Given the description of an element on the screen output the (x, y) to click on. 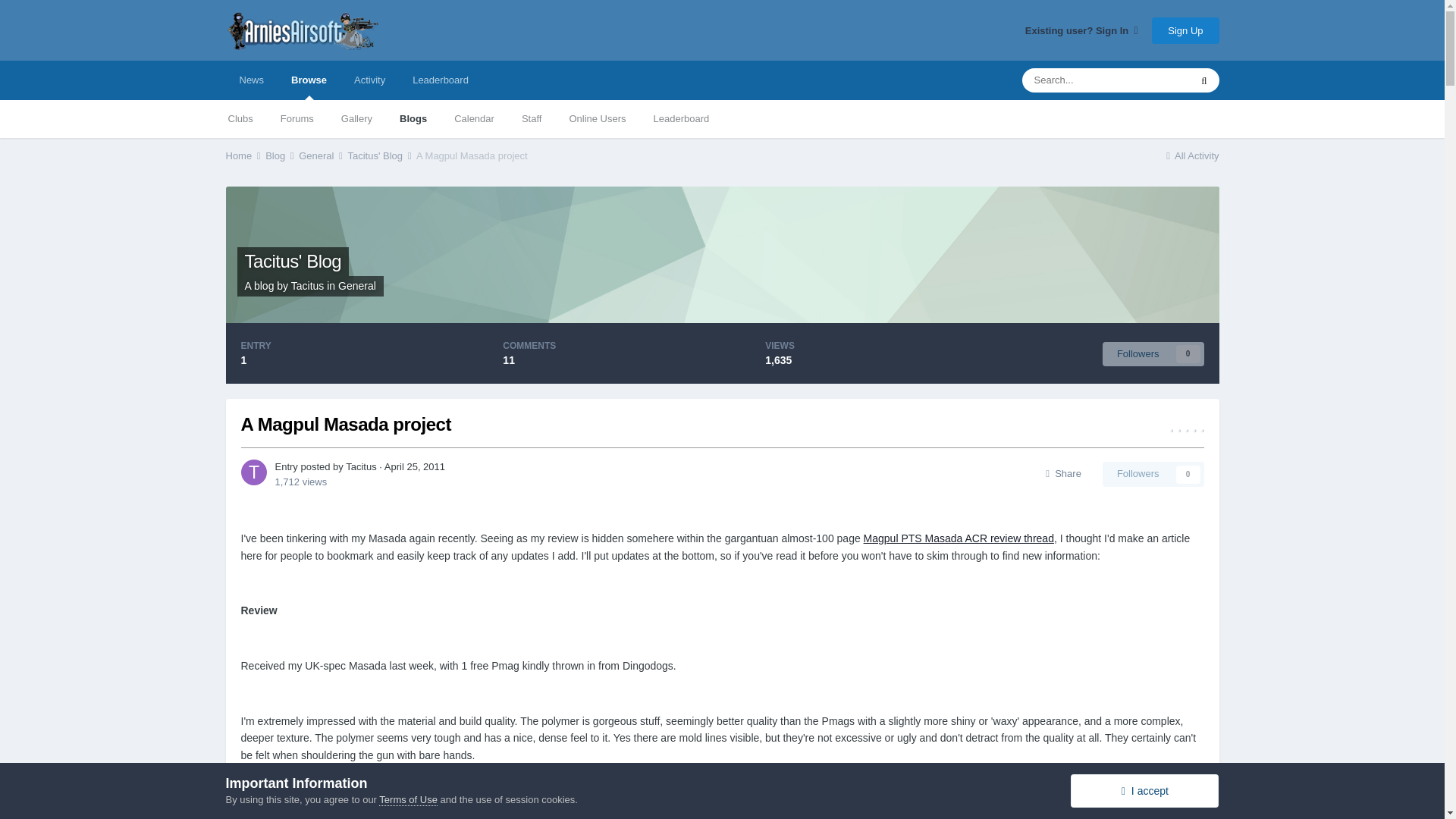
Sign Up (1184, 29)
Online Users (596, 118)
Home (244, 155)
Tacitus' Blog (292, 260)
Leaderboard (681, 118)
General (356, 285)
Leaderboard (439, 79)
Go to the blog Tacitus' Blog (292, 260)
Home (244, 155)
Blogs (413, 118)
